Given the description of an element on the screen output the (x, y) to click on. 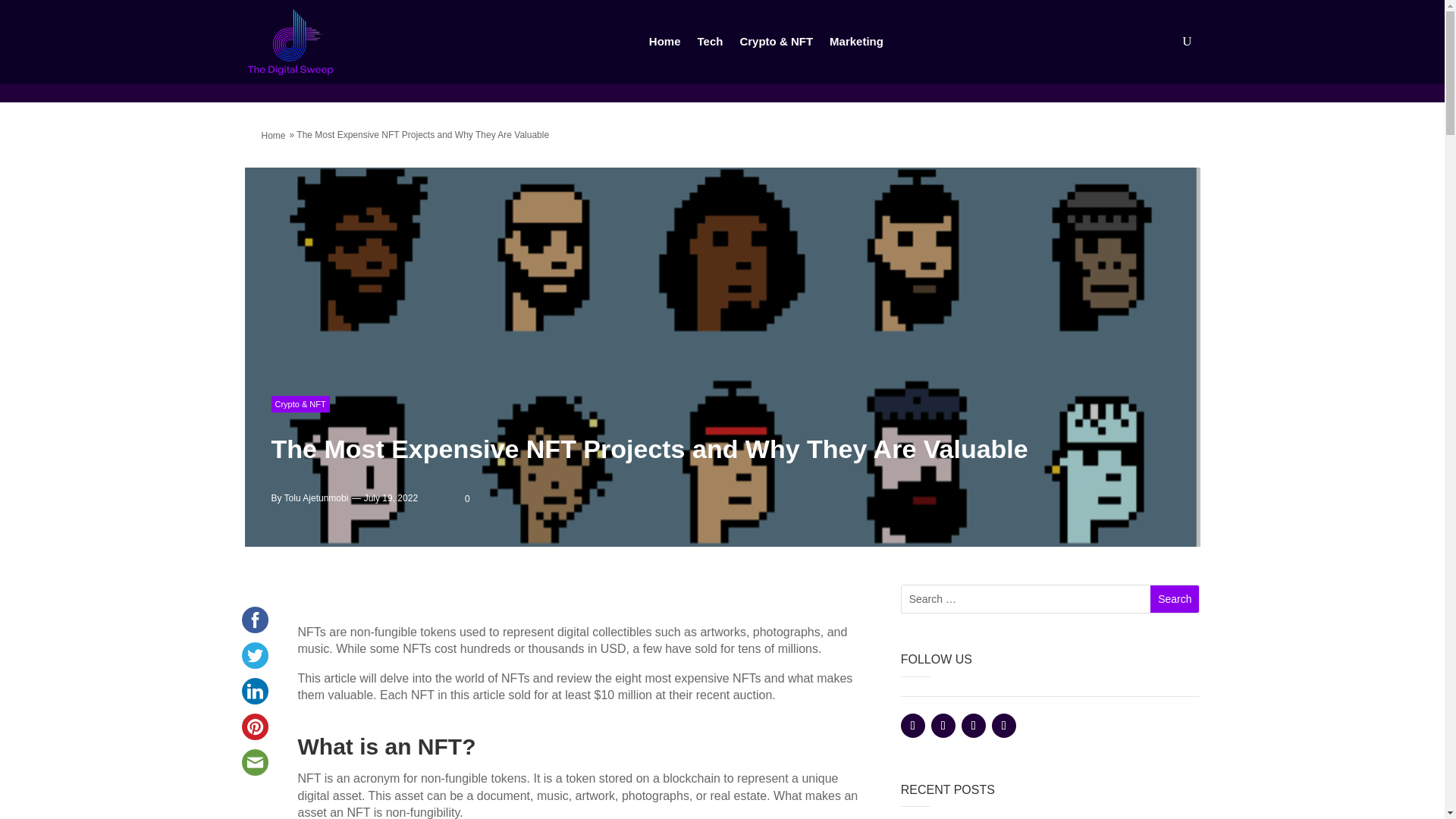
facebook (253, 619)
linkedin (253, 691)
Search (1174, 598)
twitter (253, 655)
Home (272, 135)
Search (1174, 598)
